Given the description of an element on the screen output the (x, y) to click on. 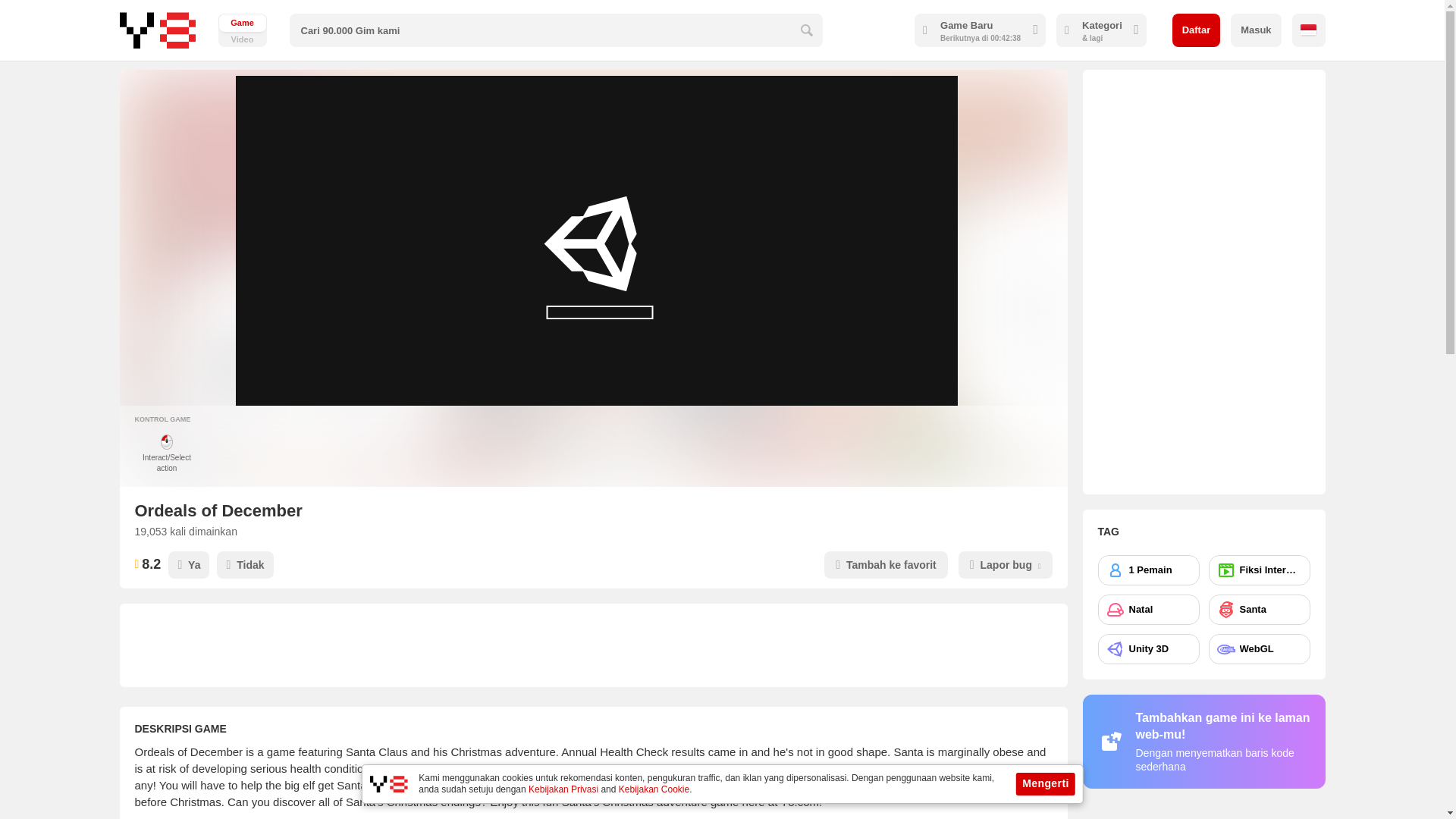
Fiksi Interaktif (1259, 570)
Daftar (1196, 29)
Santa (1259, 609)
1 Pemain (1148, 570)
Unity 3D (1148, 648)
Video (242, 29)
Kebijakan Privasi (563, 789)
Natal (1148, 609)
Masuk (1255, 29)
Kebijakan Cookie (653, 789)
